Given the description of an element on the screen output the (x, y) to click on. 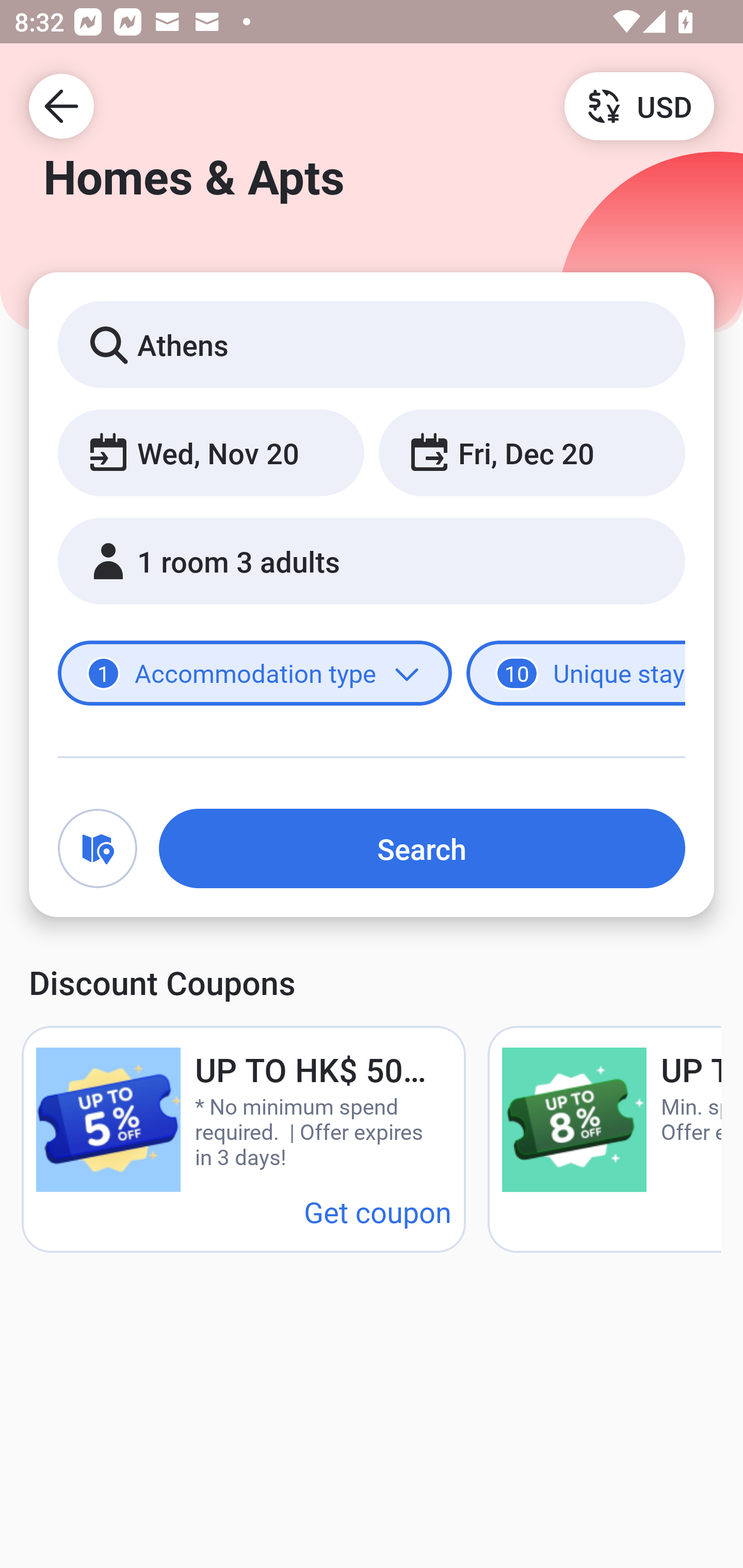
USD (639, 105)
Athens (371, 344)
Wed, Nov 20 (210, 452)
Fri, Dec 20 (531, 452)
1 room 3 adults (371, 561)
1 Accommodation type (254, 673)
10 Unique stays (575, 673)
Search (422, 848)
Get coupon (377, 1211)
